Given the description of an element on the screen output the (x, y) to click on. 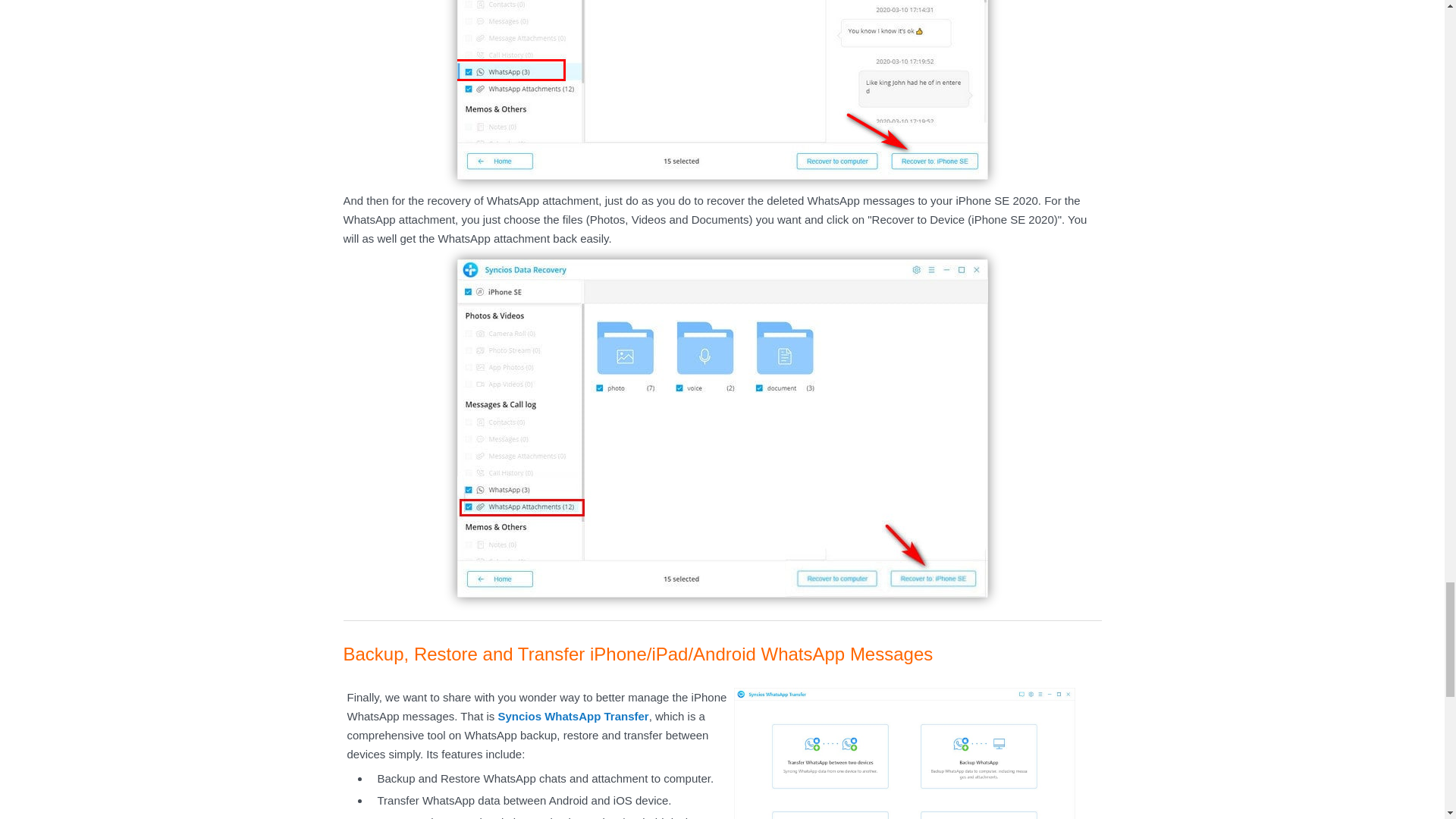
Syncios WhatsApp Transfer (572, 716)
